Given the description of an element on the screen output the (x, y) to click on. 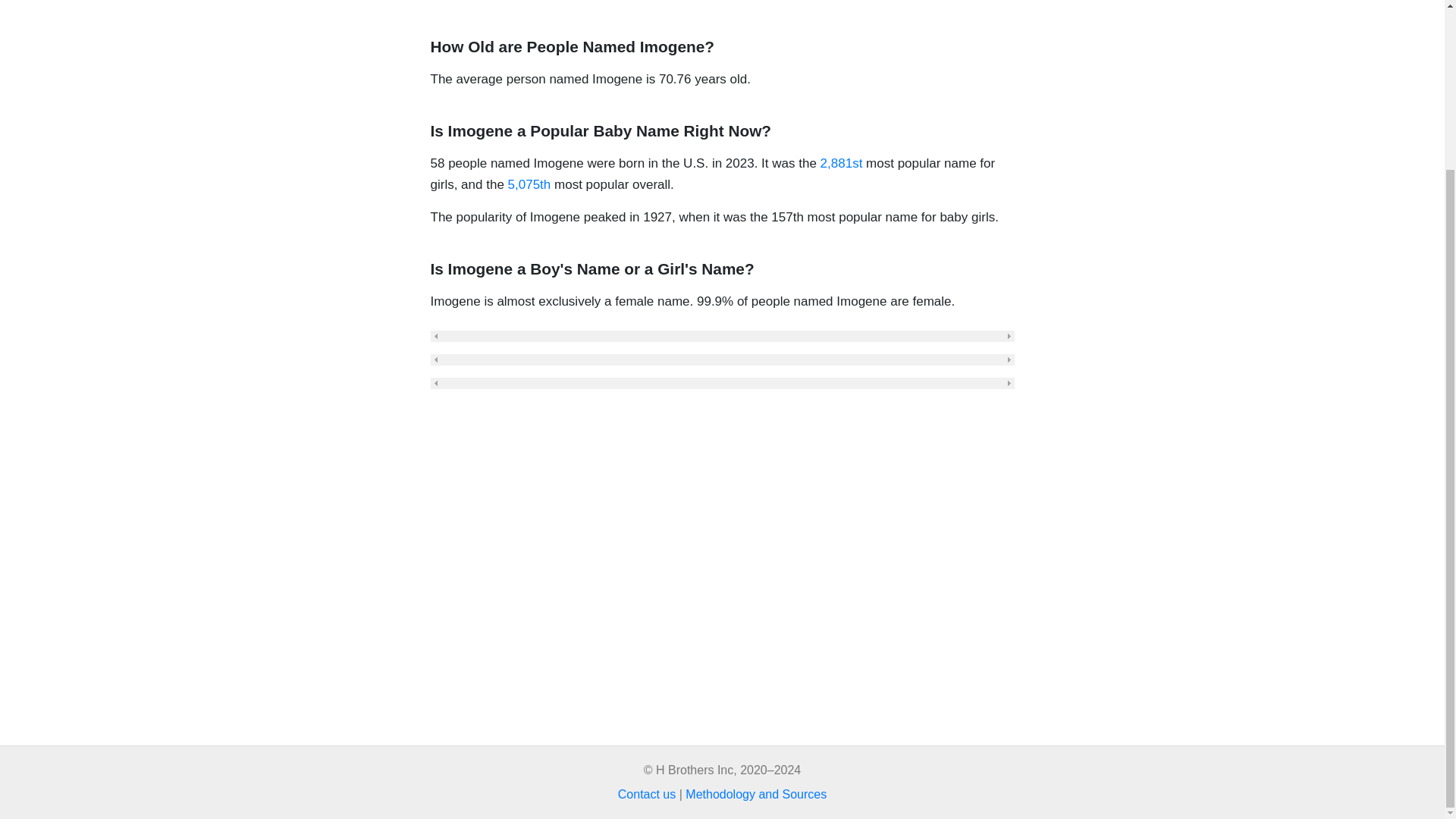
2,881st (842, 163)
5,075th (529, 184)
Methodology and Sources (756, 793)
Contact us (646, 793)
